Given the description of an element on the screen output the (x, y) to click on. 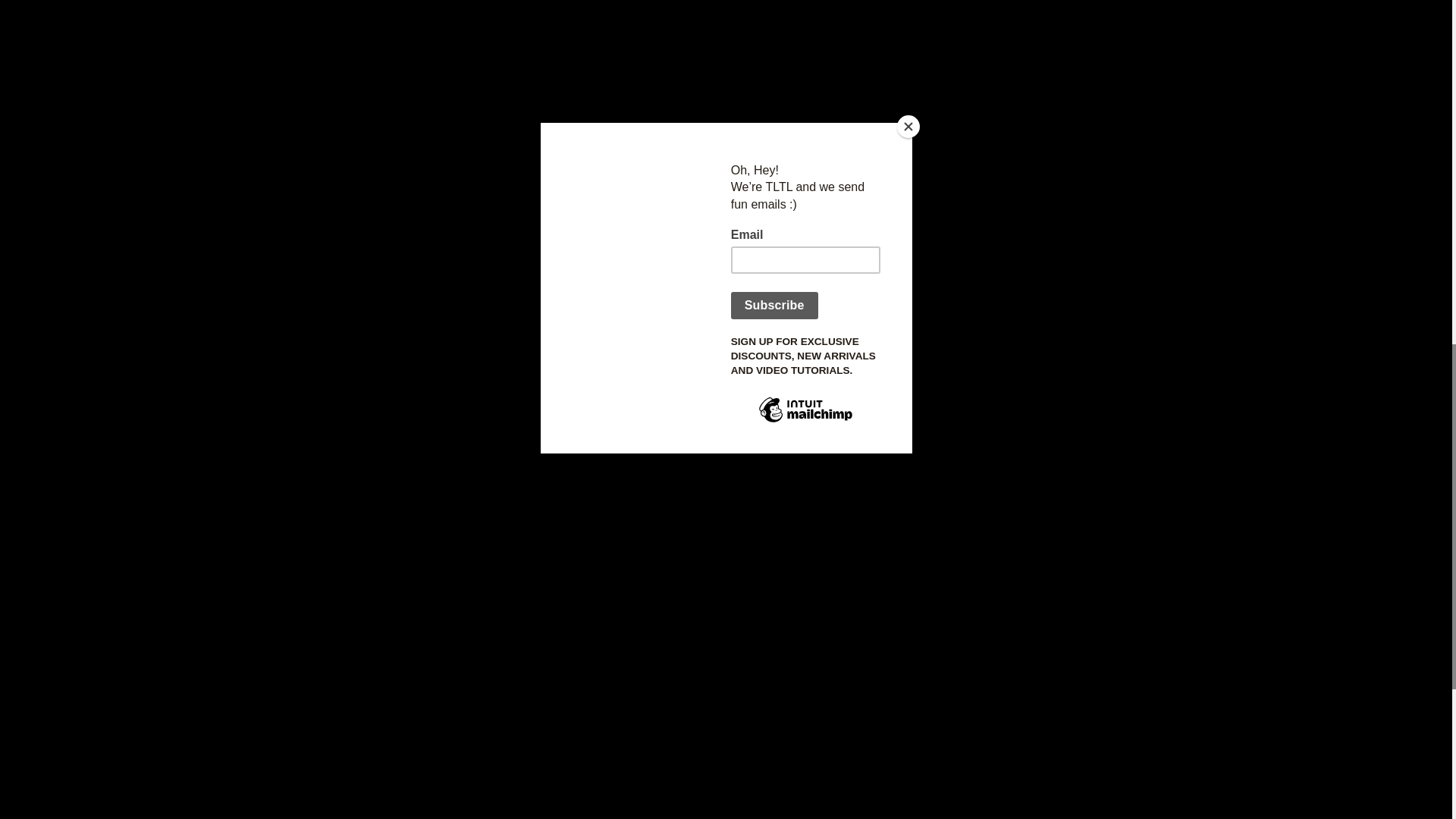
Pin on Pinterest (852, 386)
White (359, 810)
Black (322, 810)
Share on Facebook (773, 386)
